Given the description of an element on the screen output the (x, y) to click on. 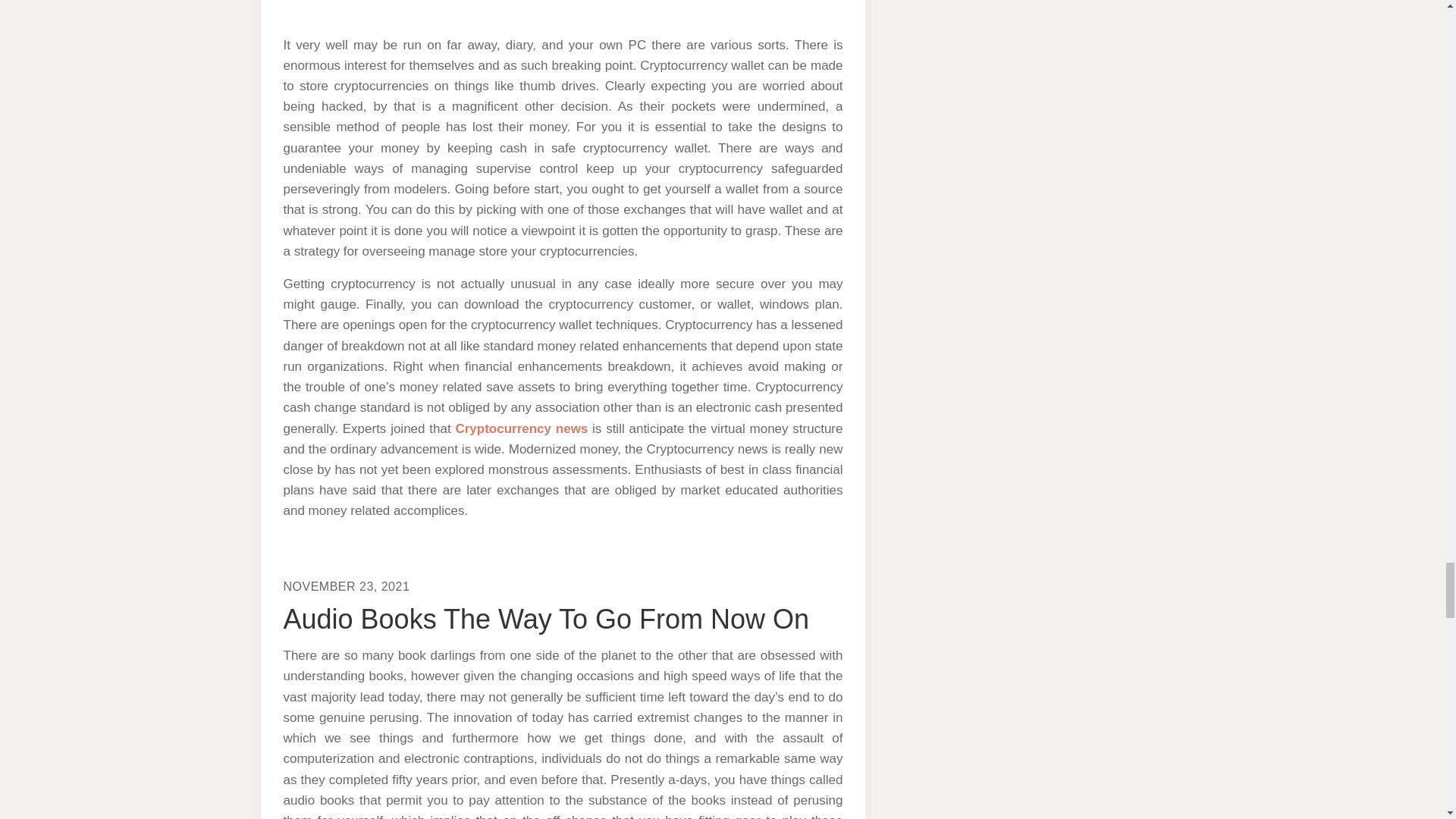
Cryptocurrency news (521, 428)
NOVEMBER 23, 2021 (346, 585)
Audio Books The Way To Go From Now On (546, 618)
